Given the description of an element on the screen output the (x, y) to click on. 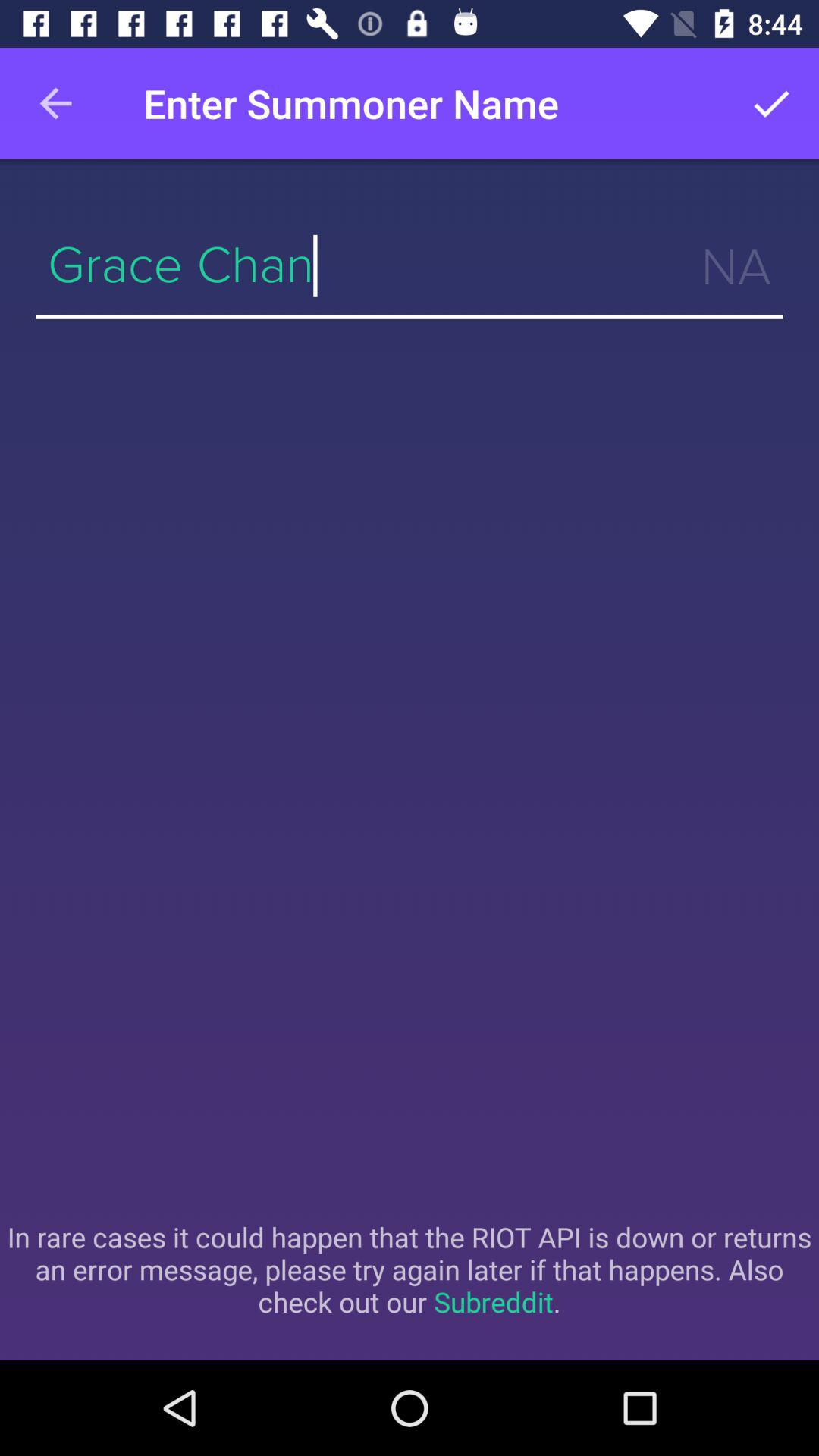
choose the item below grace chan item (409, 1269)
